Given the description of an element on the screen output the (x, y) to click on. 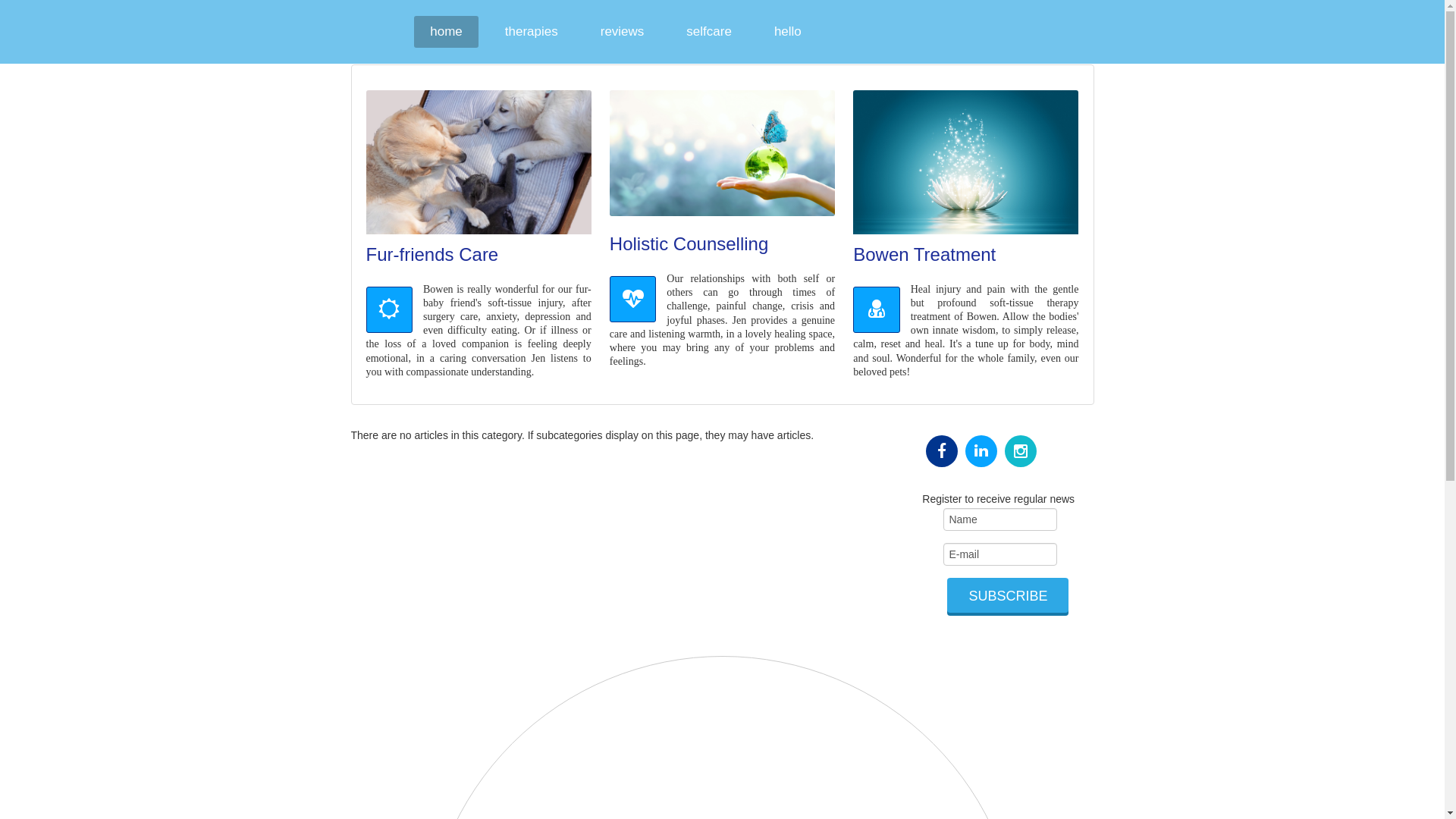
Name Element type: hover (1000, 519)
subscribe Element type: text (1007, 594)
selfcare Element type: text (708, 31)
Holistic Counselling Element type: text (688, 243)
Fur-friends Care Element type: text (431, 254)
therapies Element type: text (531, 31)
home Element type: text (446, 31)
hello Element type: text (787, 31)
E-mail Element type: hover (1000, 553)
reviews Element type: text (622, 31)
Bowen Treatment Element type: text (924, 254)
